Given the description of an element on the screen output the (x, y) to click on. 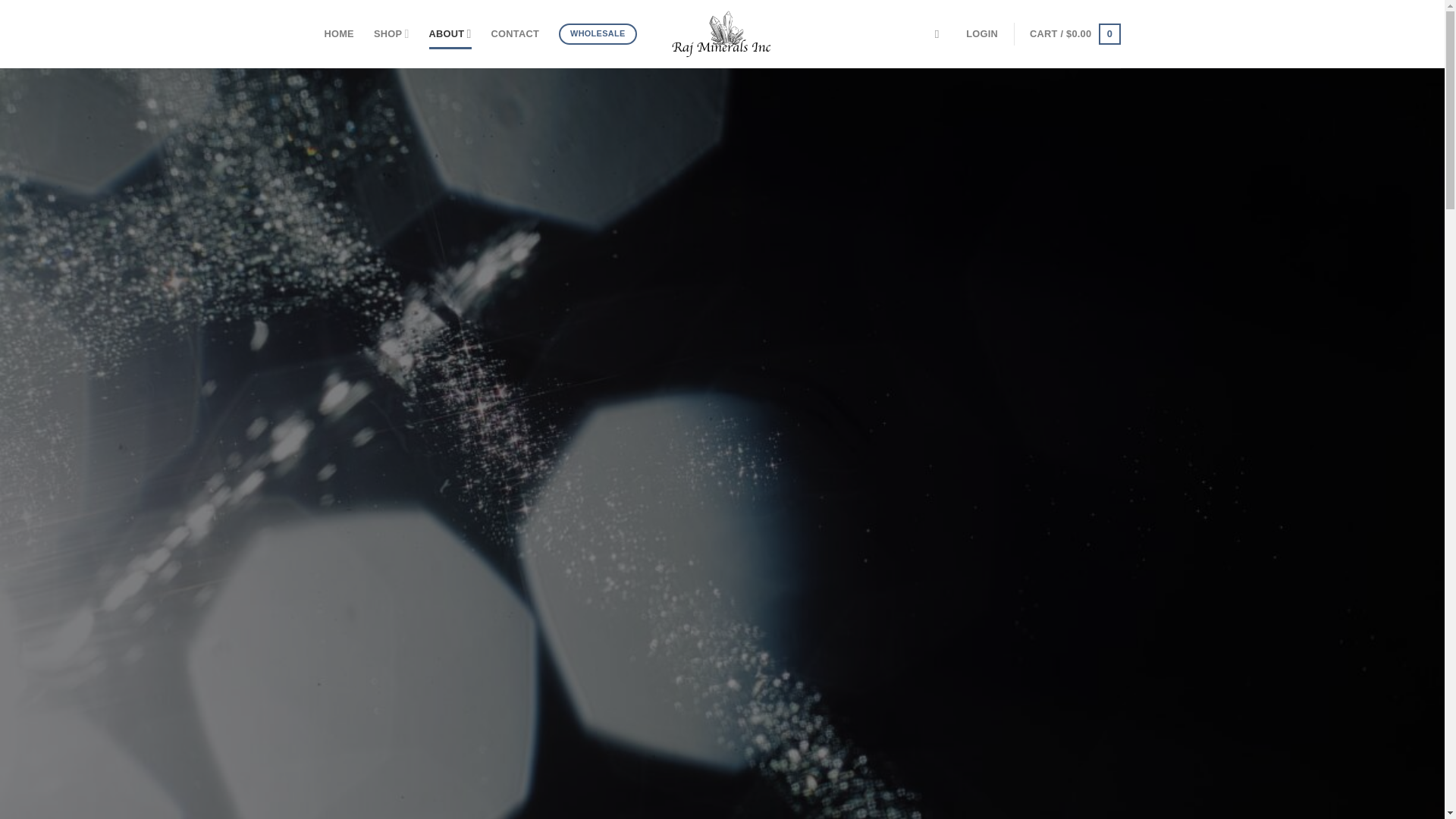
HOME (338, 33)
LOGIN (981, 33)
SHOP (391, 33)
Login (981, 33)
ABOUT (450, 33)
Cart (1074, 34)
CONTACT (515, 33)
WHOLESALE (598, 34)
